Given the description of an element on the screen output the (x, y) to click on. 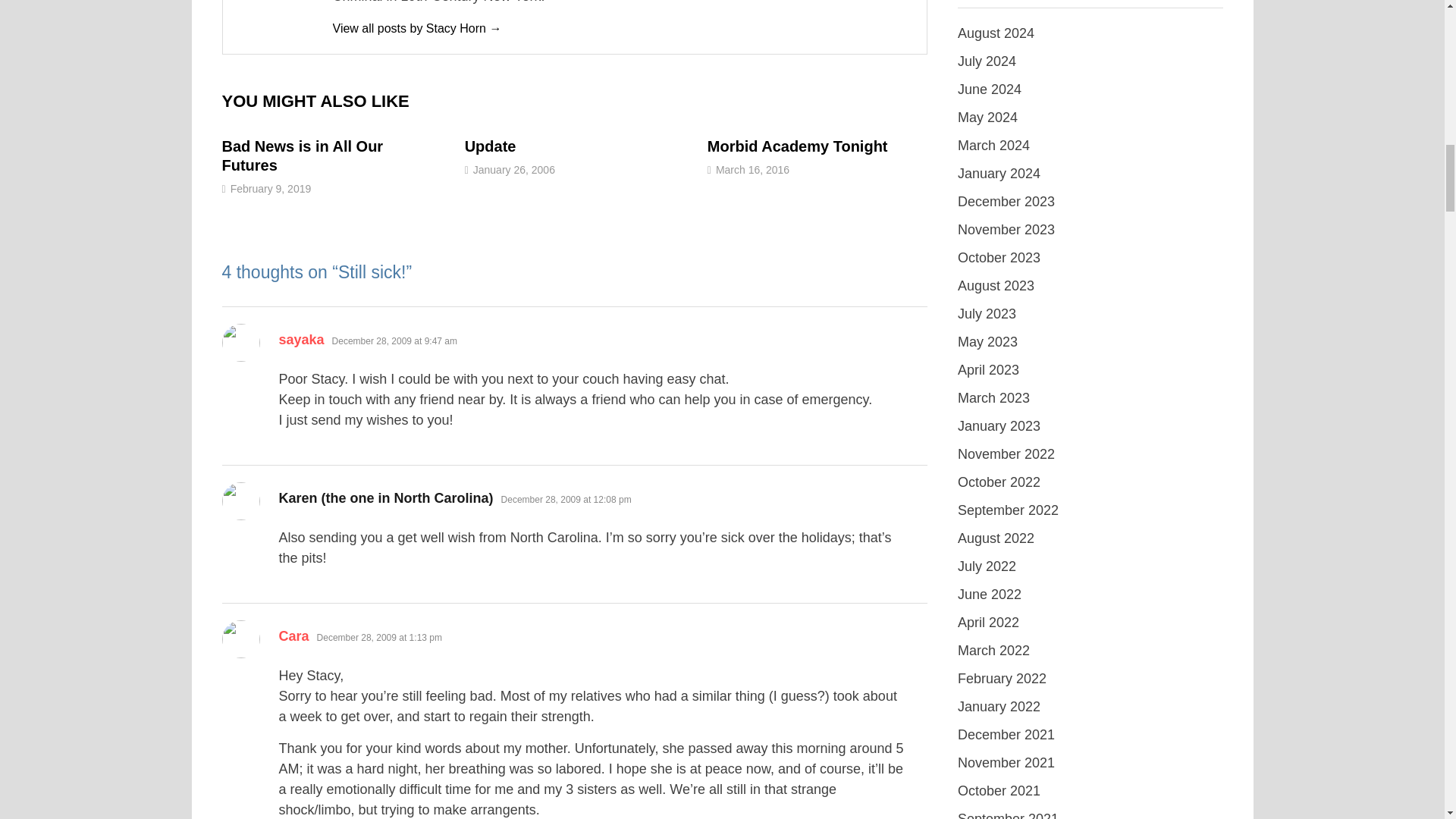
December 28, 2009 at 12:08 pm (565, 499)
March 16, 2016 (752, 169)
December 28, 2009 at 1:13 pm (379, 637)
Update (490, 146)
sayaka (301, 339)
Stacy Horn (415, 28)
Cara (293, 635)
Bad News is in All Our Futures (301, 155)
February 9, 2019 (270, 188)
Morbid Academy Tonight (797, 146)
